Given the description of an element on the screen output the (x, y) to click on. 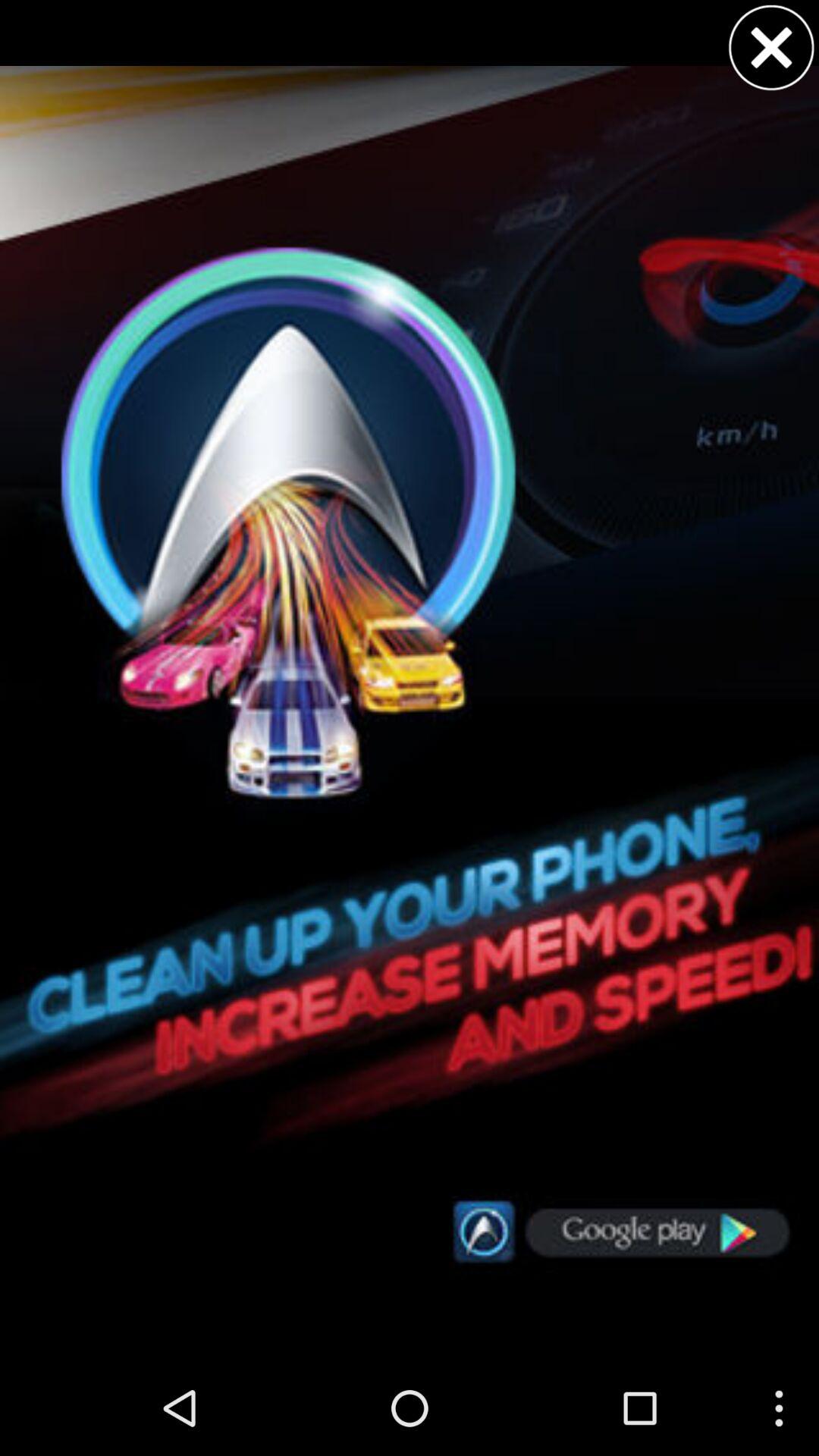
turn off the icon at the top right corner (771, 47)
